Given the description of an element on the screen output the (x, y) to click on. 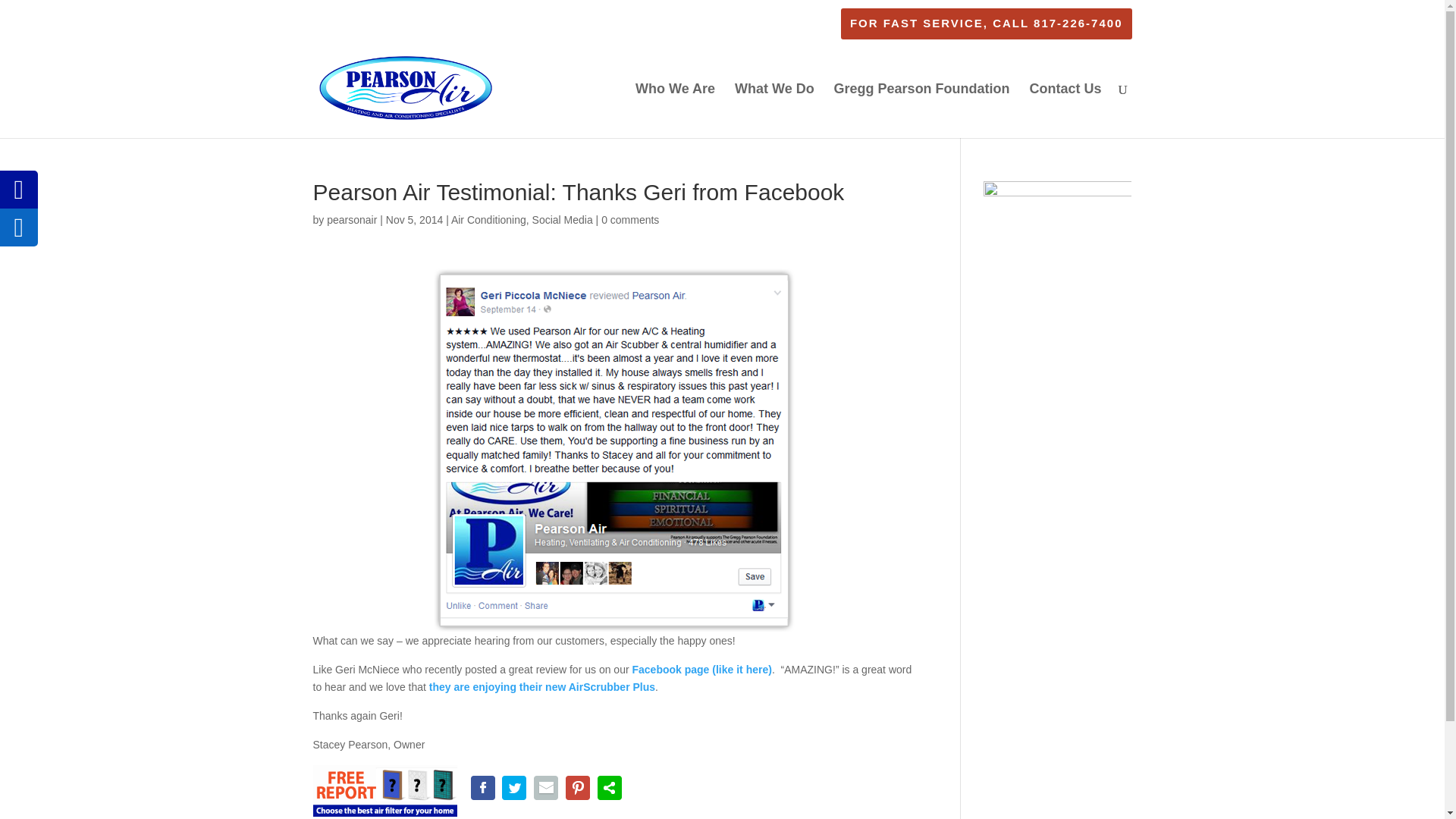
Air Scrubber Plus Technology (542, 686)
pearsonair (351, 219)
Contact Us (1064, 110)
Like us on Facebook! (701, 669)
Social Media (562, 219)
FOR FAST SERVICE, CALL 817-226-7400 (986, 26)
Who We Are (674, 110)
0 comments (630, 219)
Air Conditioning (488, 219)
What We Do (774, 110)
Posts by pearsonair (351, 219)
Gregg Pearson Foundation (922, 110)
they are enjoying their new AirScrubber Plus (542, 686)
